Given the description of an element on the screen output the (x, y) to click on. 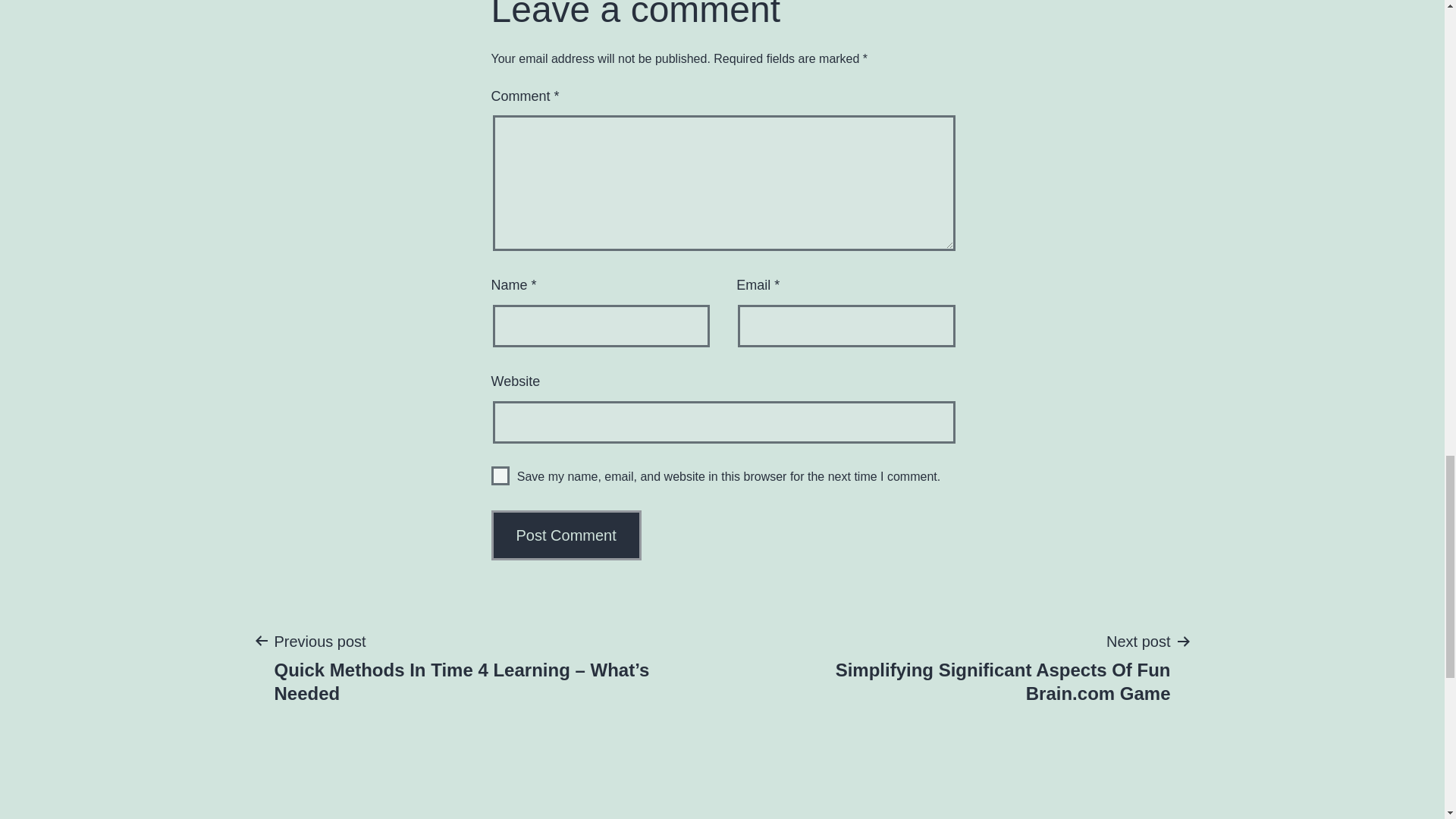
Post Comment (567, 535)
yes (500, 475)
Post Comment (567, 535)
